Given the description of an element on the screen output the (x, y) to click on. 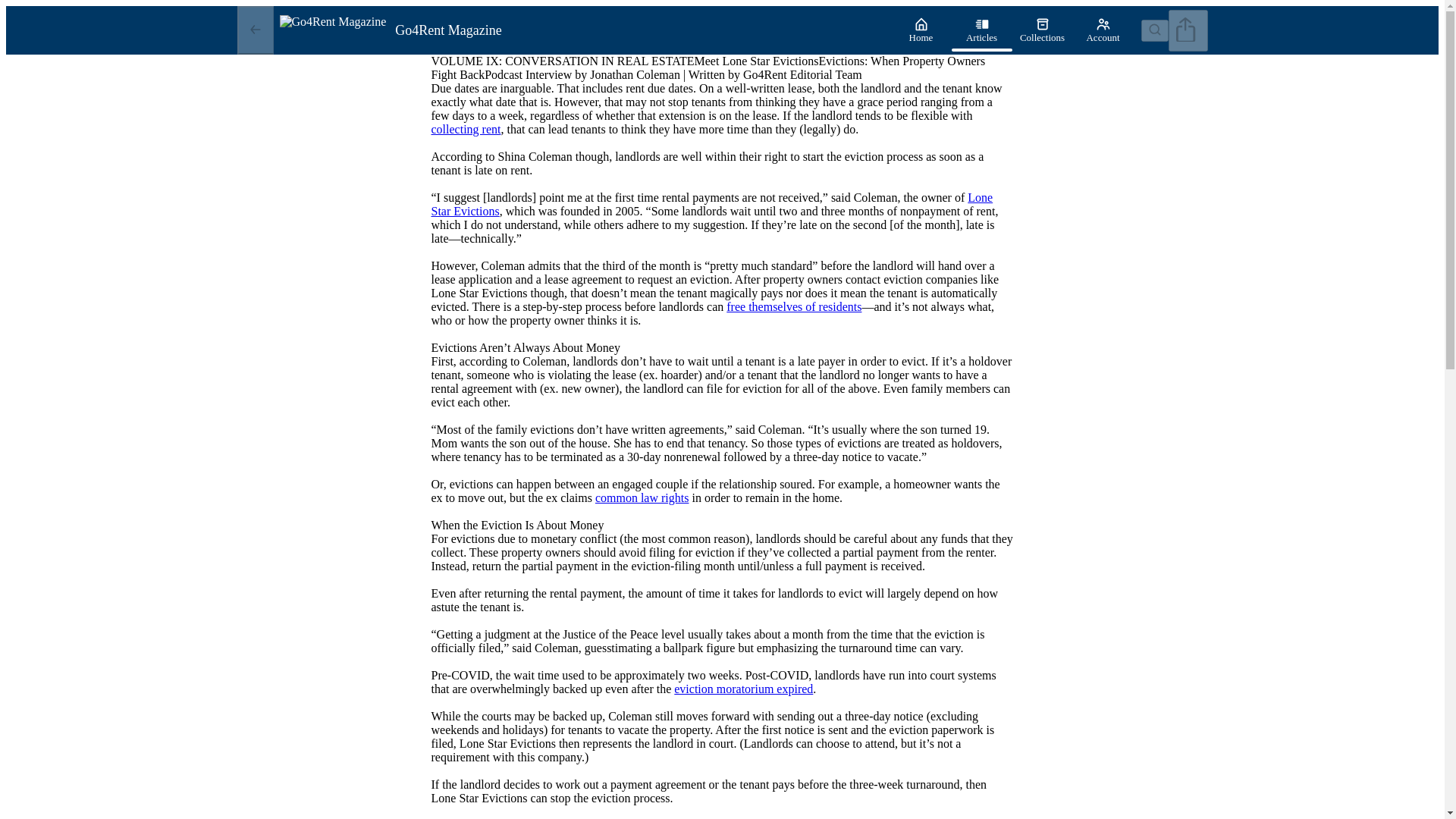
common law rights (641, 497)
free themselves of residents (793, 306)
eviction moratorium expired (743, 688)
Lone Star Evictions (711, 203)
Go4Rent Magazine (581, 29)
collecting rent (465, 128)
